Given the description of an element on the screen output the (x, y) to click on. 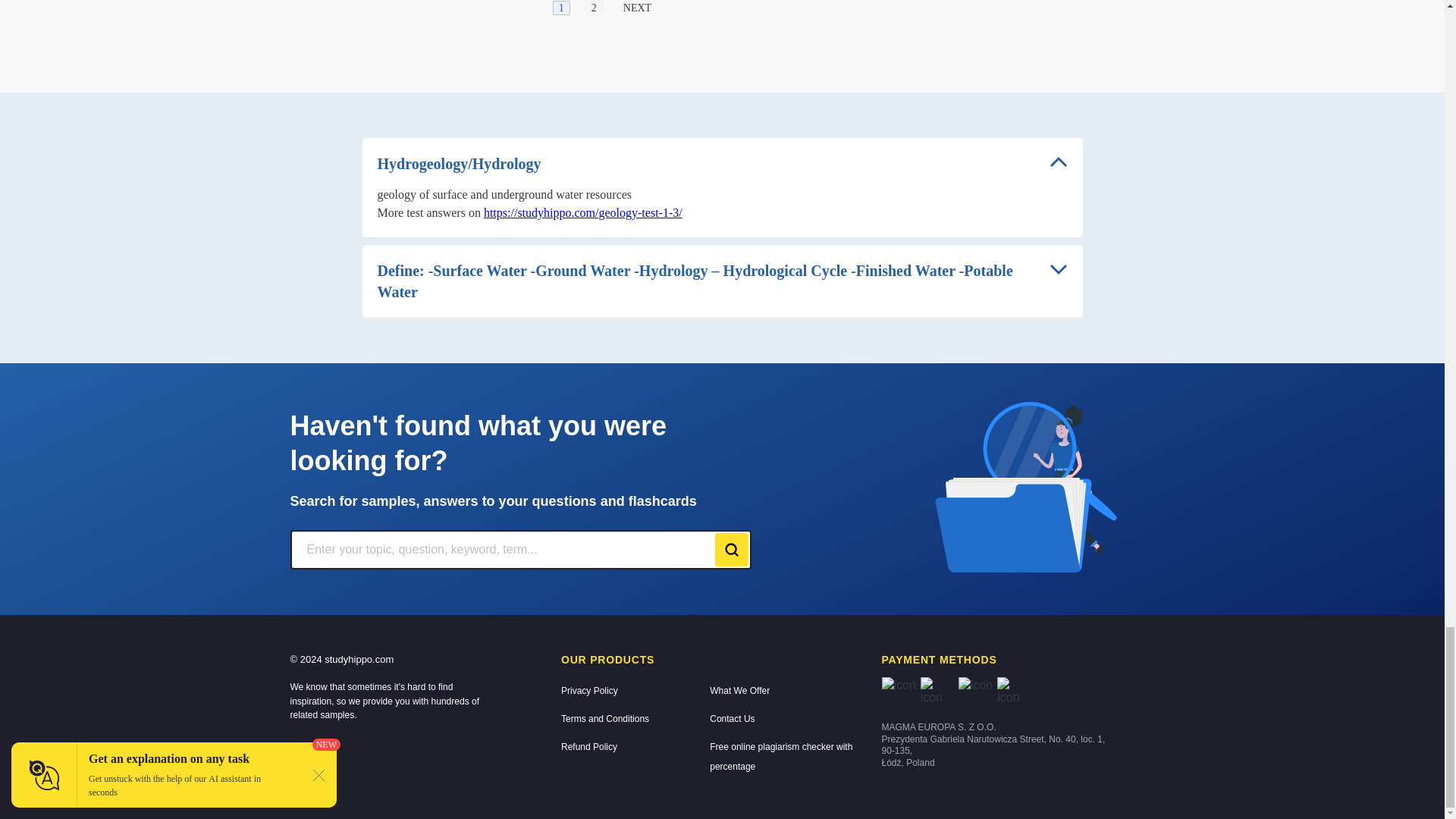
2 (593, 7)
